Given the description of an element on the screen output the (x, y) to click on. 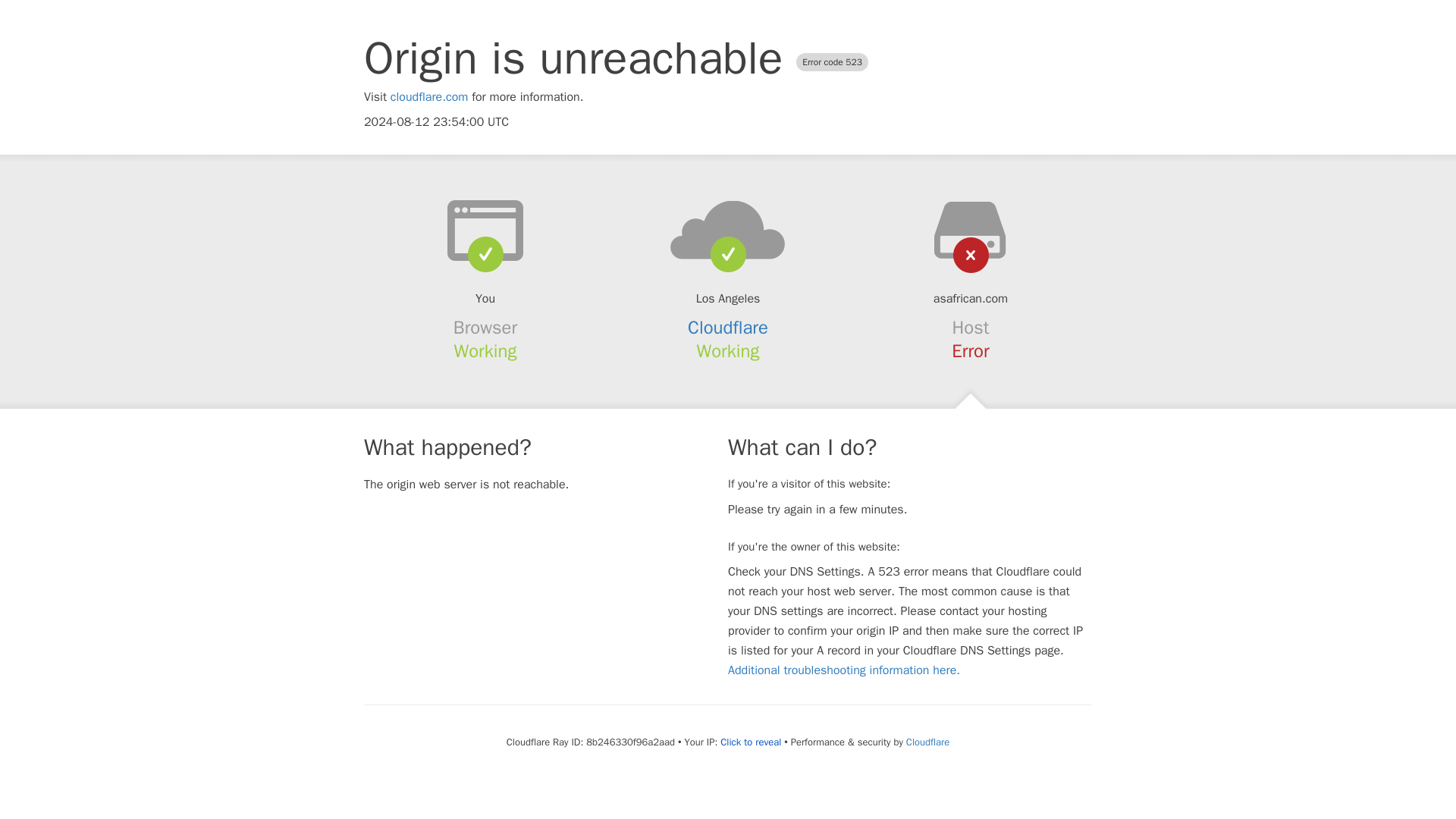
cloudflare.com (429, 96)
Click to reveal (750, 742)
Additional troubleshooting information here. (843, 670)
Cloudflare (727, 327)
Cloudflare (927, 741)
